Given the description of an element on the screen output the (x, y) to click on. 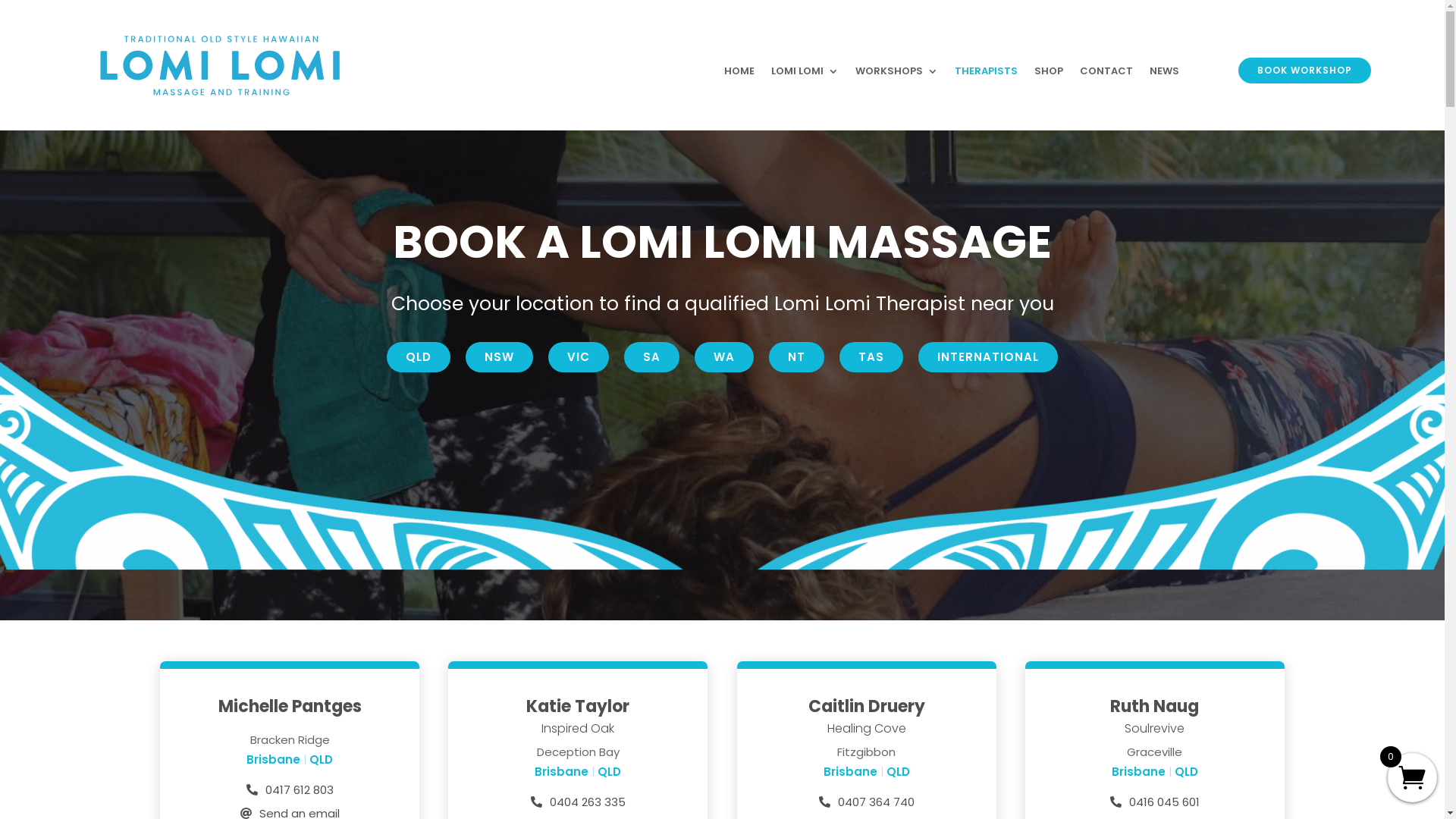
NSW Element type: text (499, 357)
QLD Element type: text (418, 357)
0416 045 601 Element type: text (1164, 801)
NEWS Element type: text (1164, 73)
1lomilomilogo Element type: hover (219, 65)
HOME Element type: text (739, 73)
SA Element type: text (651, 357)
0404 263 335 Element type: text (587, 801)
NT Element type: text (796, 357)
INTERNATIONAL Element type: text (987, 357)
CONTACT Element type: text (1105, 73)
WA Element type: text (723, 357)
0417 612 803 Element type: text (299, 789)
LOMI LOMI Element type: text (804, 73)
0407 364 740 Element type: text (875, 801)
TAS Element type: text (871, 357)
THERAPISTS Element type: text (985, 73)
SHOP Element type: text (1048, 73)
VIC Element type: text (578, 357)
BOOK WORKSHOP Element type: text (1304, 70)
Artboard 35 Element type: hover (722, 490)
WORKSHOPS Element type: text (896, 73)
